Given the description of an element on the screen output the (x, y) to click on. 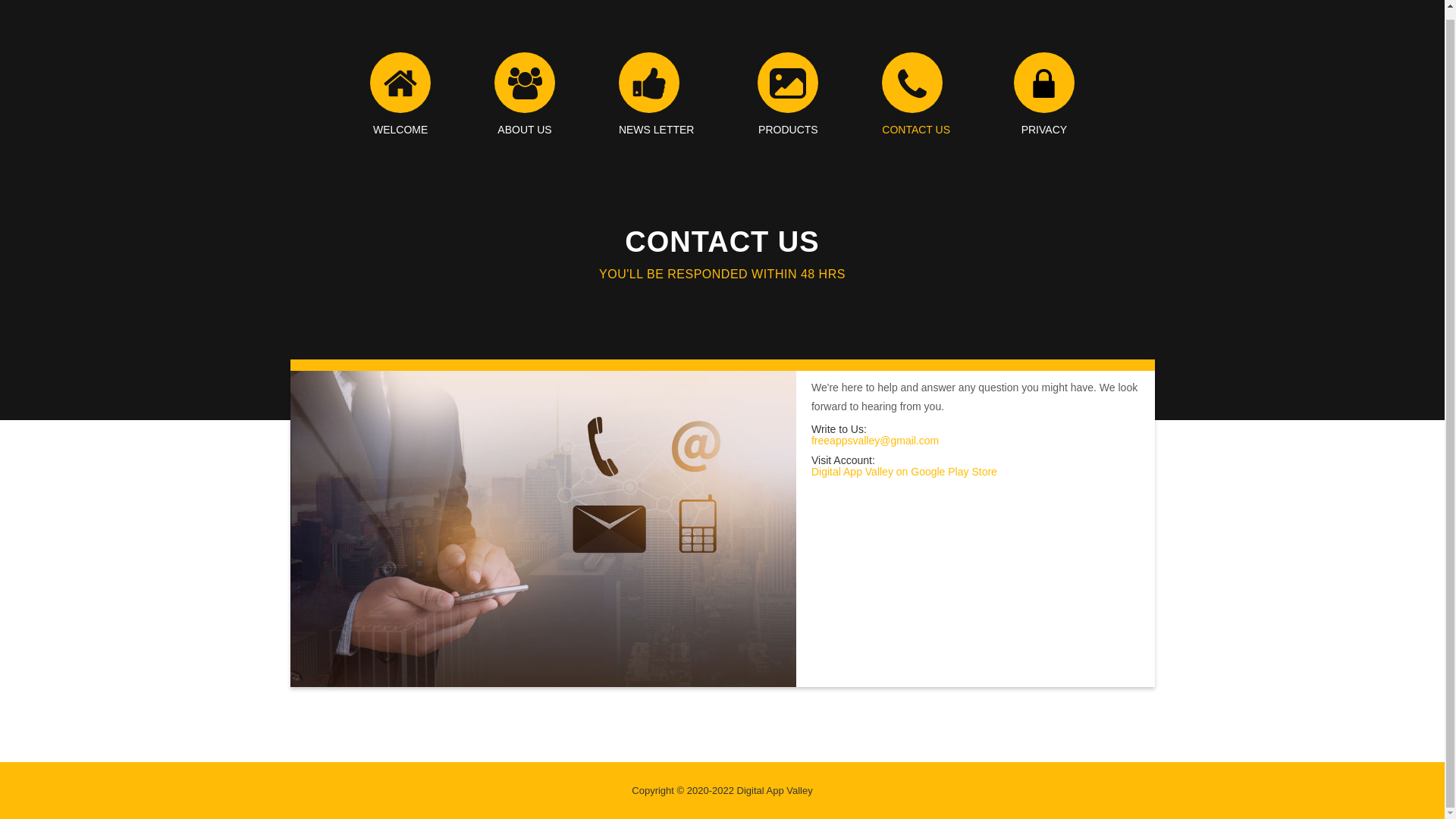
Digital App Valley on Google Play Store (903, 471)
NEWS LETTER (656, 93)
